Given the description of an element on the screen output the (x, y) to click on. 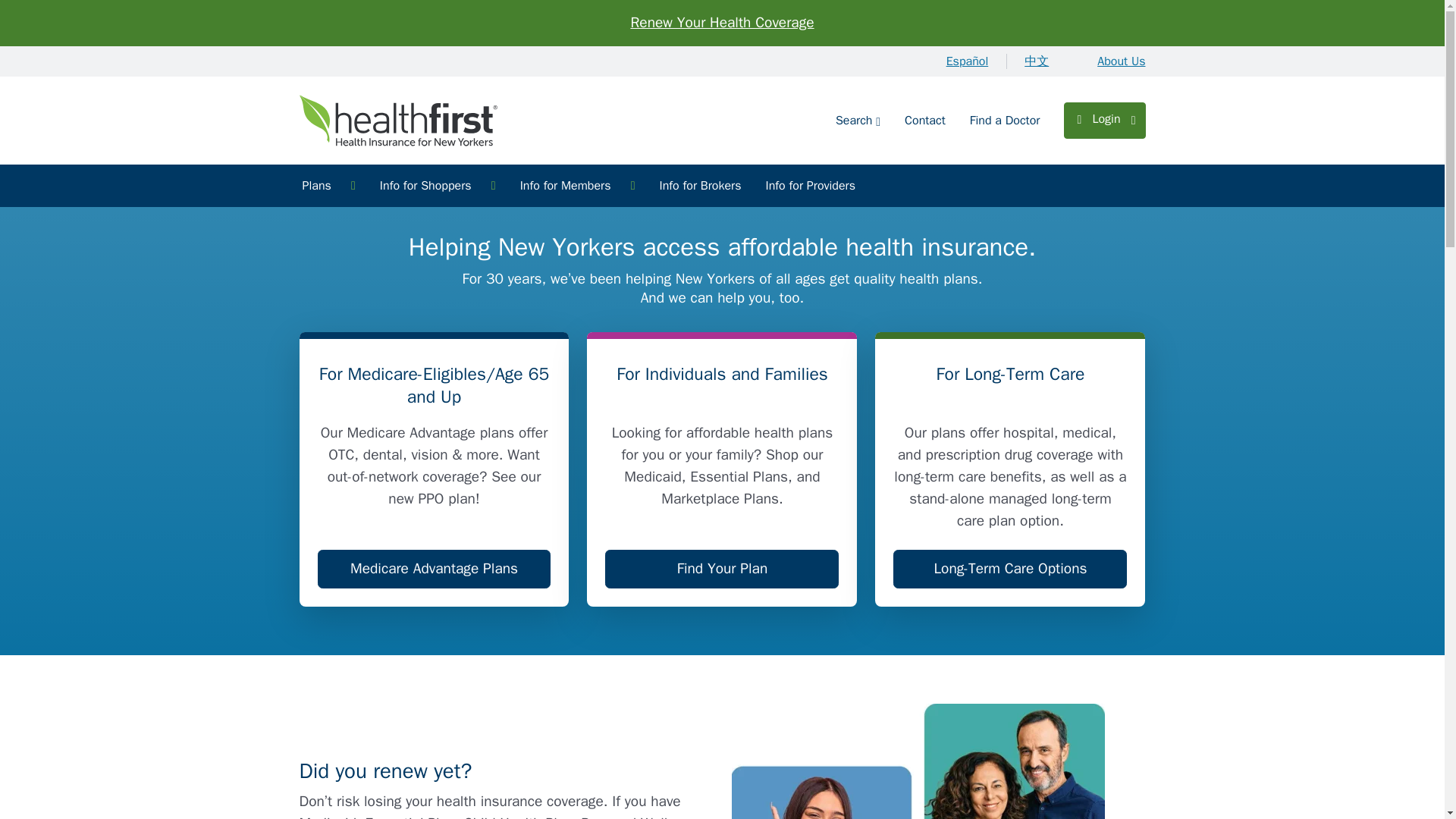
Contact (925, 120)
About Us (1114, 60)
Plans (327, 185)
Info for Shoppers (438, 185)
Search  (858, 120)
Long-Term Care Options (1009, 568)
Find a Doctor (1005, 120)
Medicare Advantage Plans (433, 568)
Login (1104, 118)
Find Your Plan (721, 568)
Renew Your Health Coverage (721, 23)
